Given the description of an element on the screen output the (x, y) to click on. 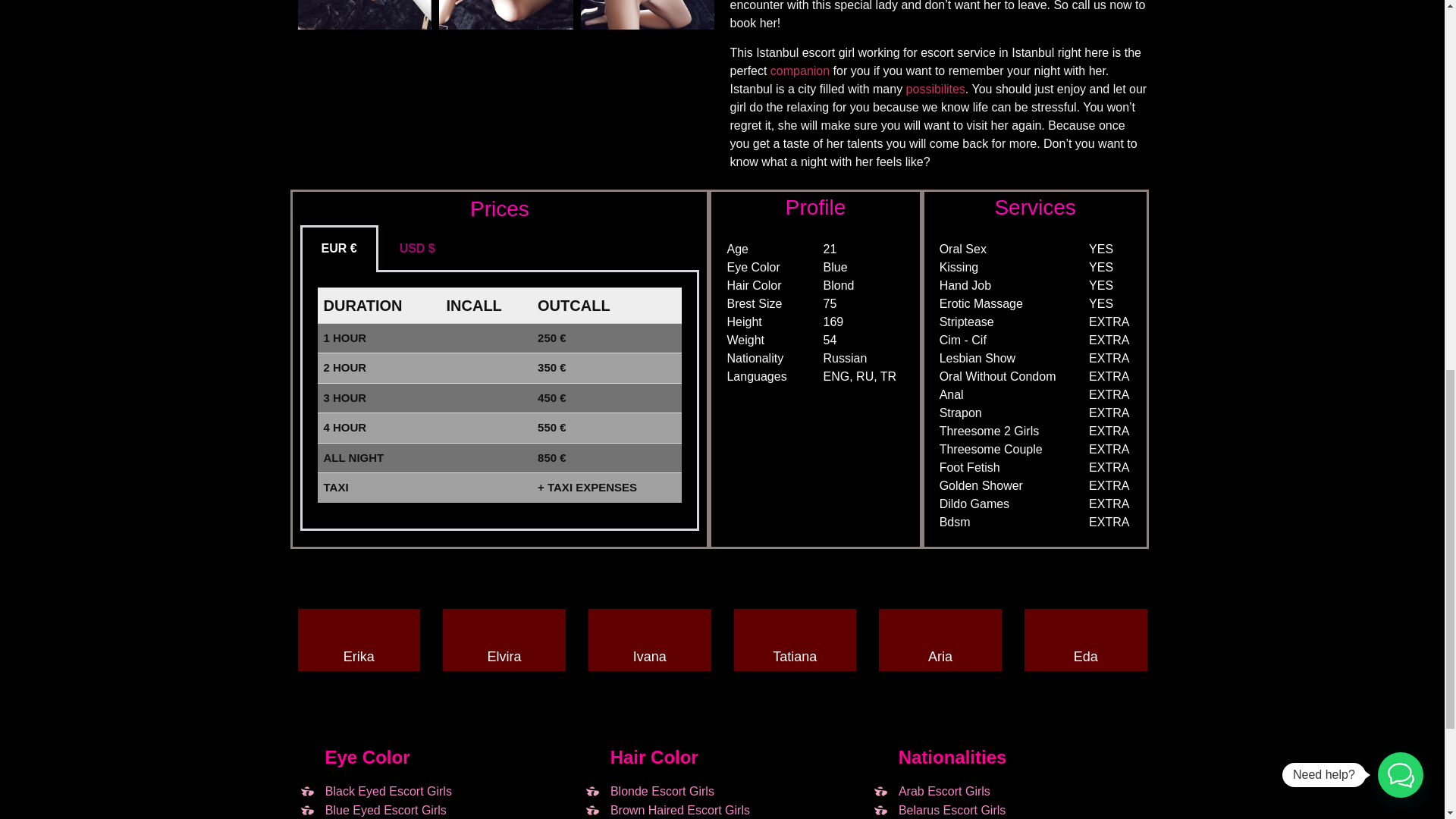
Elvira (503, 656)
Ivana (649, 656)
Erika (358, 656)
Black Eyed Escort Girls (374, 791)
companion (799, 70)
possibilites (935, 88)
Eda (1085, 656)
Blue Eyed Escort Girls (371, 809)
Tatiana (794, 656)
Aria (940, 656)
